Given the description of an element on the screen output the (x, y) to click on. 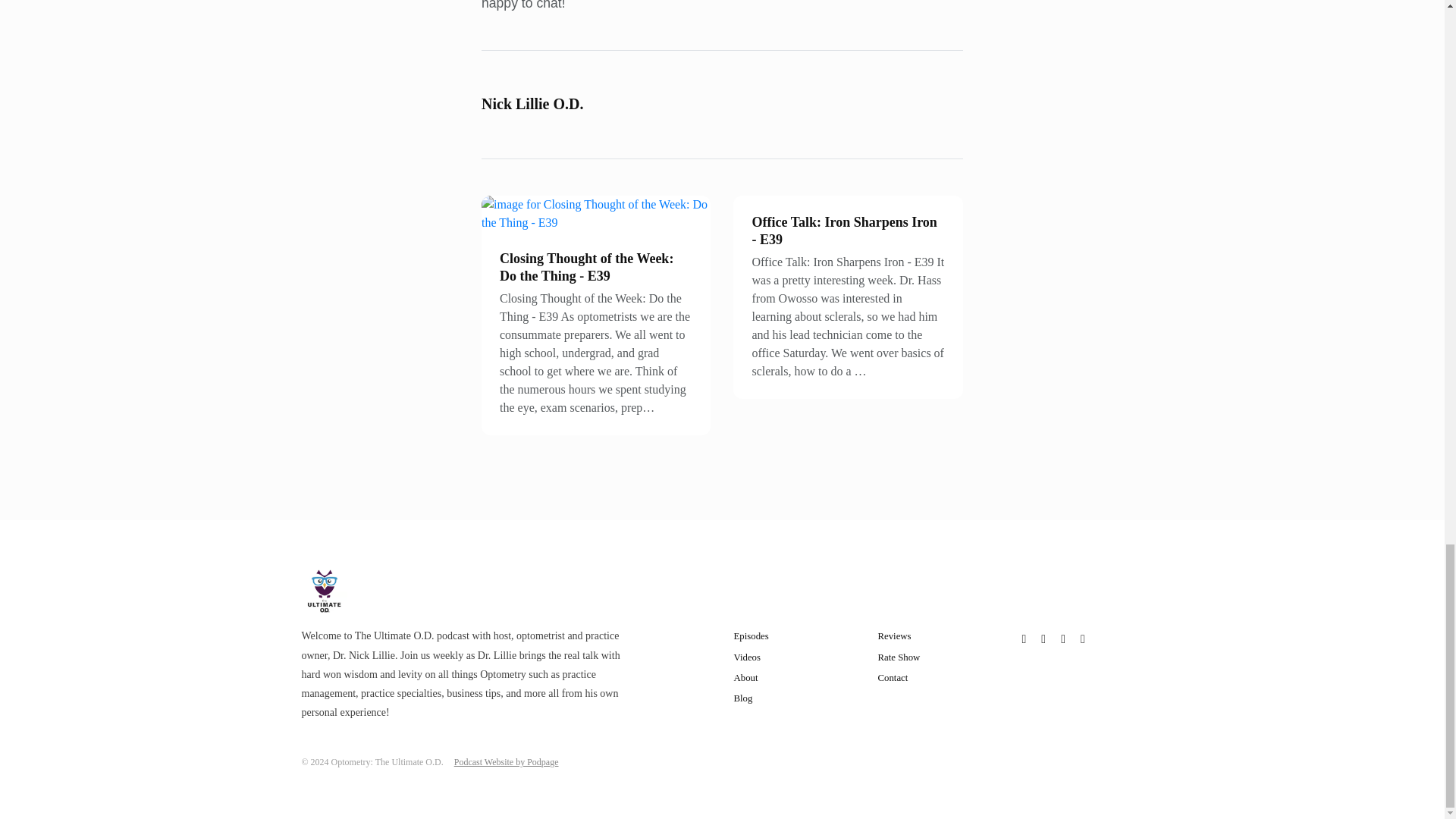
Closing Thought of the Week: Do the Thing - E39 (585, 266)
Optometry: The Ultimate O.D. Logo (324, 591)
Nick Lillie O.D. (532, 103)
